Given the description of an element on the screen output the (x, y) to click on. 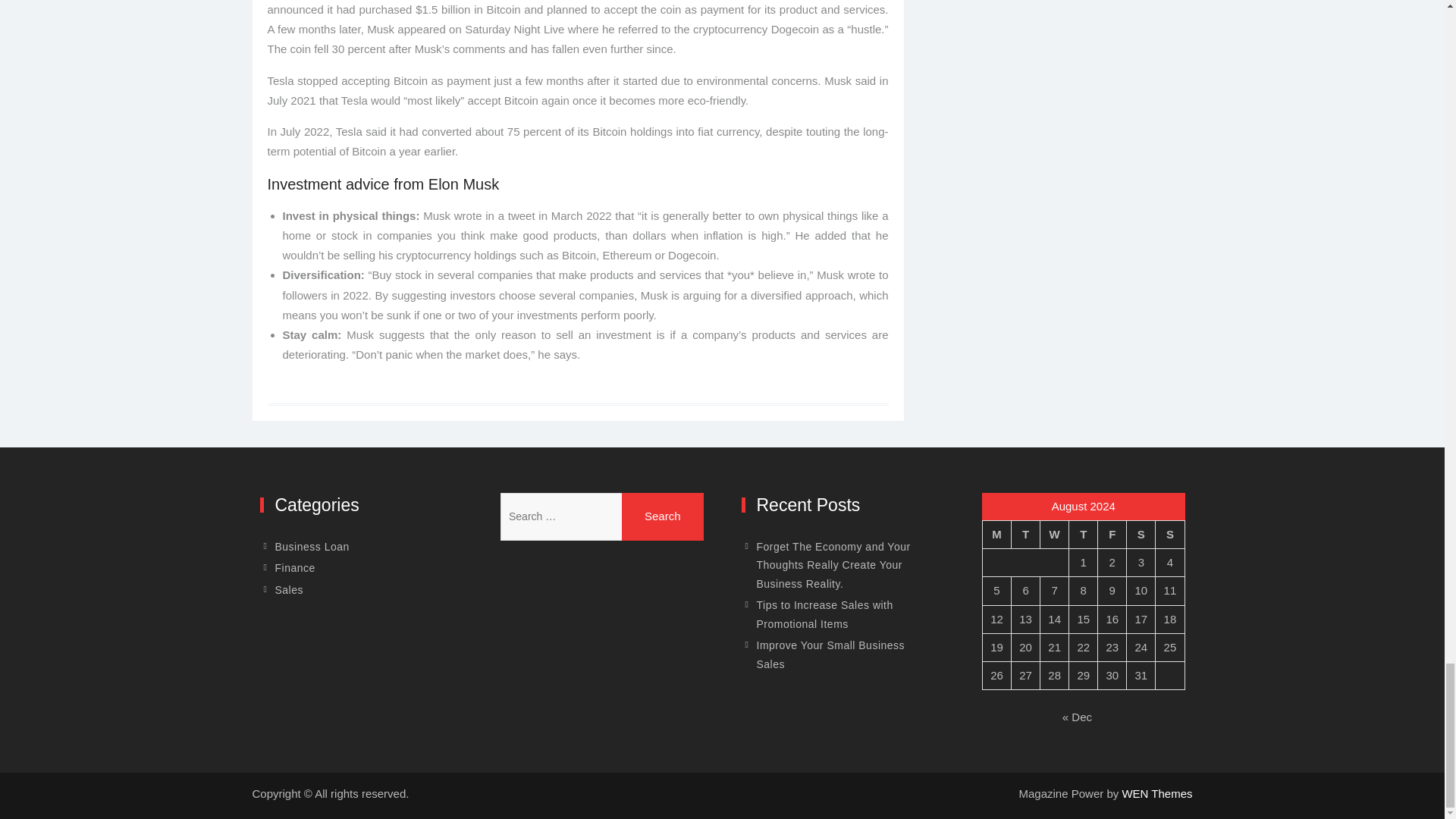
Wednesday (1054, 533)
Sunday (1170, 533)
Search (662, 517)
Thursday (1082, 533)
Search (662, 517)
Friday (1111, 533)
Monday (996, 533)
Business Loan (312, 546)
Saturday (1141, 533)
Tuesday (1026, 533)
